Given the description of an element on the screen output the (x, y) to click on. 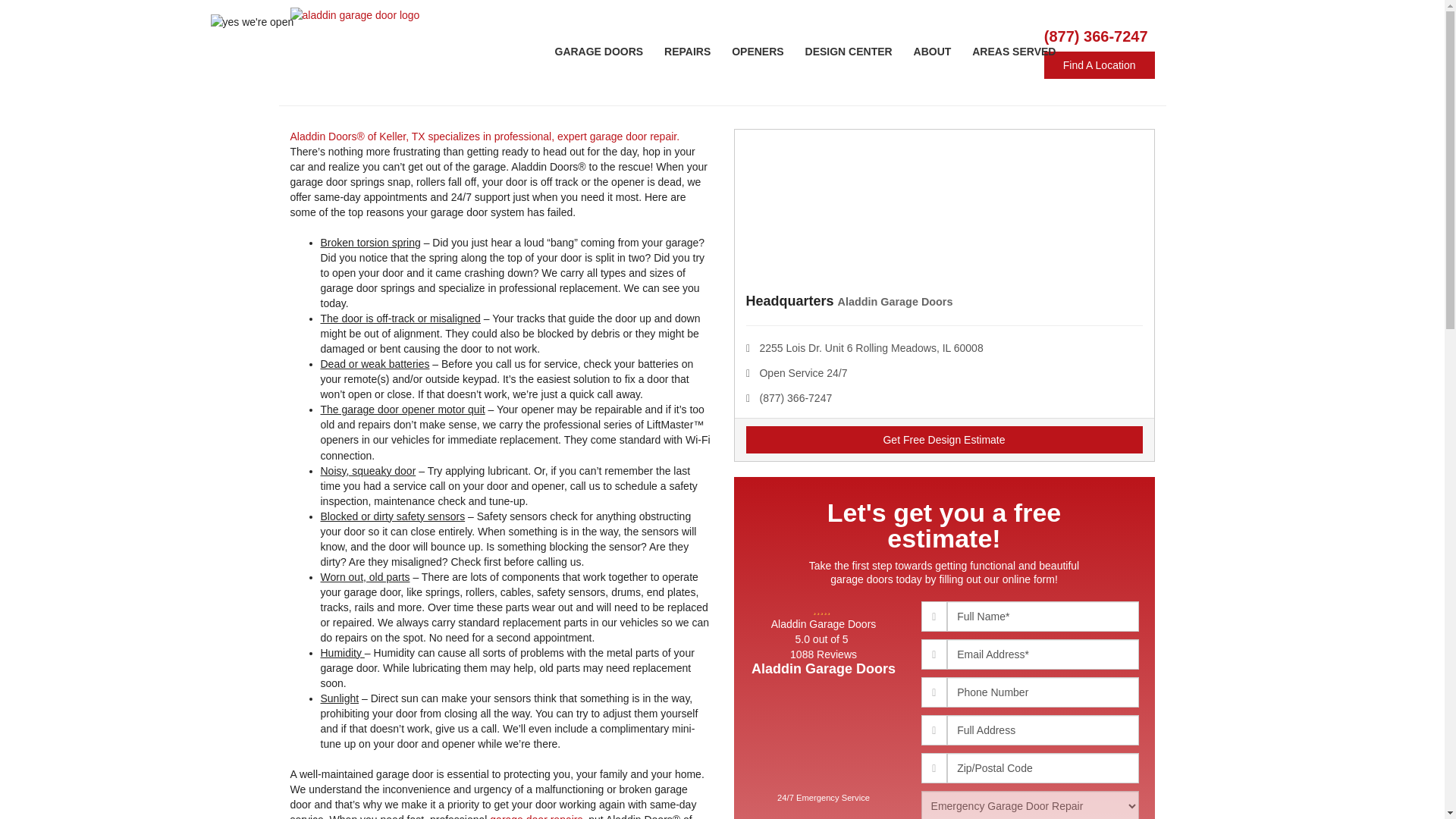
Find A Location (1098, 64)
Get Free Design Estimate (943, 439)
OPENERS (757, 51)
REPAIRS (687, 51)
GARAGE DOORS (599, 51)
AREAS SERVED (1013, 51)
ABOUT (932, 51)
DESIGN CENTER (848, 51)
garage door repairs (535, 816)
